Given the description of an element on the screen output the (x, y) to click on. 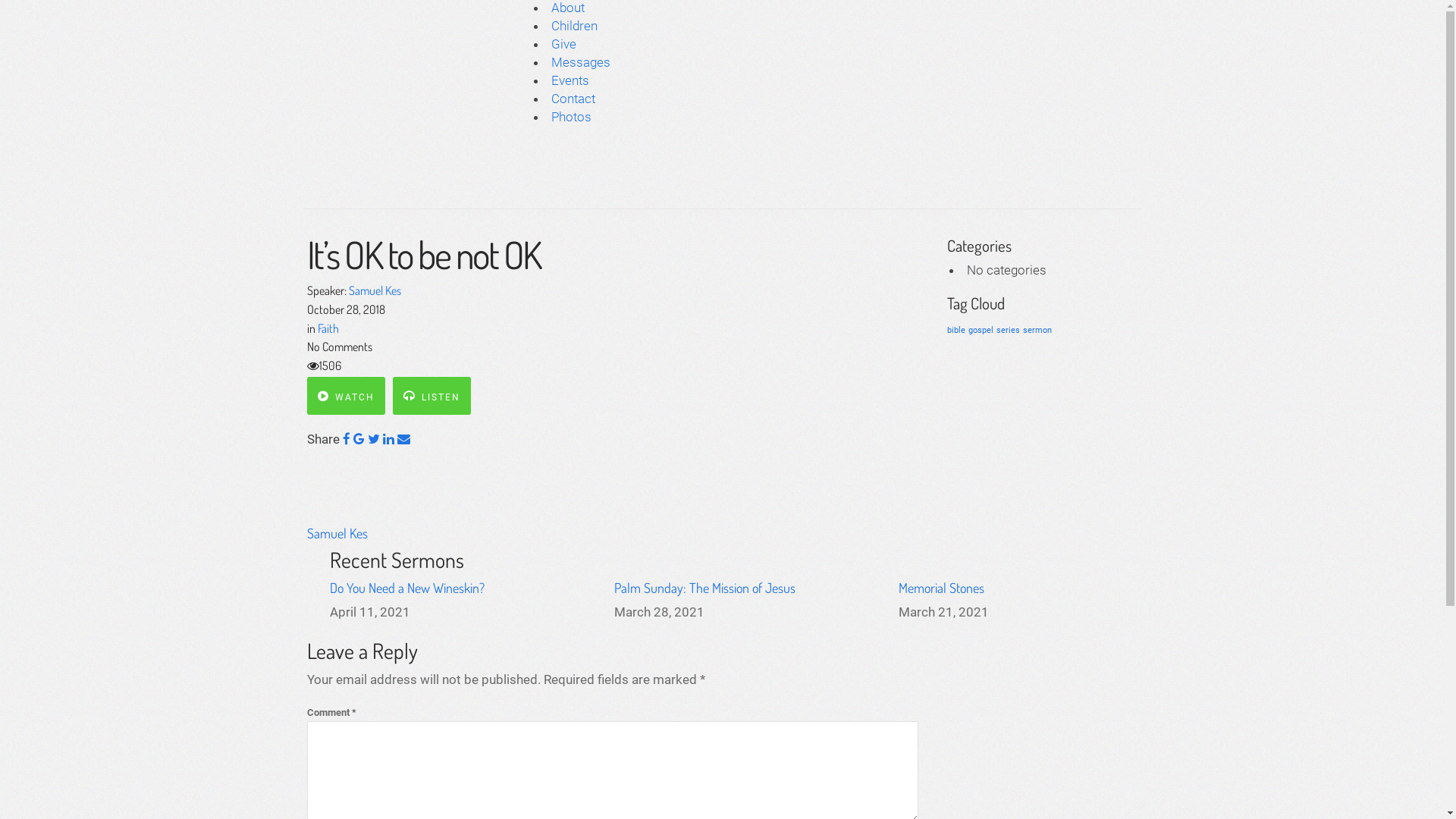
LISTEN Element type: text (431, 395)
sermon Element type: text (1036, 330)
Memorial Stones Element type: text (941, 587)
Palm Sunday: The Mission of Jesus Element type: text (704, 587)
bible Element type: text (956, 330)
Do You Need a New Wineskin? Element type: text (406, 587)
WATCH Element type: text (345, 395)
Samuel Kes Element type: text (374, 290)
series Element type: text (1007, 330)
Contact Element type: text (573, 98)
Samuel Kes Element type: text (336, 532)
gospel Element type: text (980, 330)
Photos Element type: text (571, 116)
Children Element type: text (574, 25)
About Element type: text (567, 7)
Messages Element type: text (580, 61)
Give Element type: text (563, 43)
Faith Element type: text (327, 327)
Events Element type: text (570, 79)
